Given the description of an element on the screen output the (x, y) to click on. 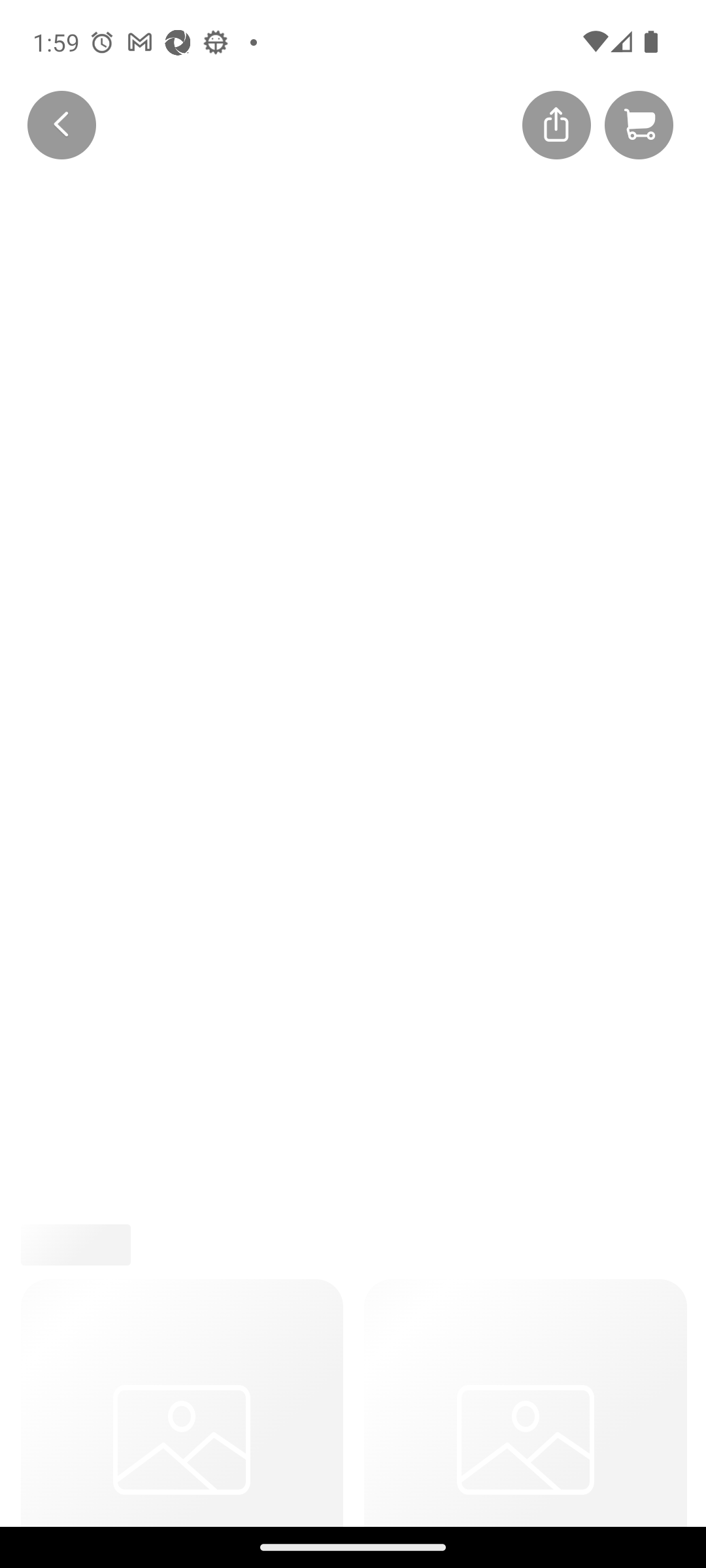
Weee! - Groceries Delivered (50, 123)
My cart (638, 124)
 (555, 123)
